Given the description of an element on the screen output the (x, y) to click on. 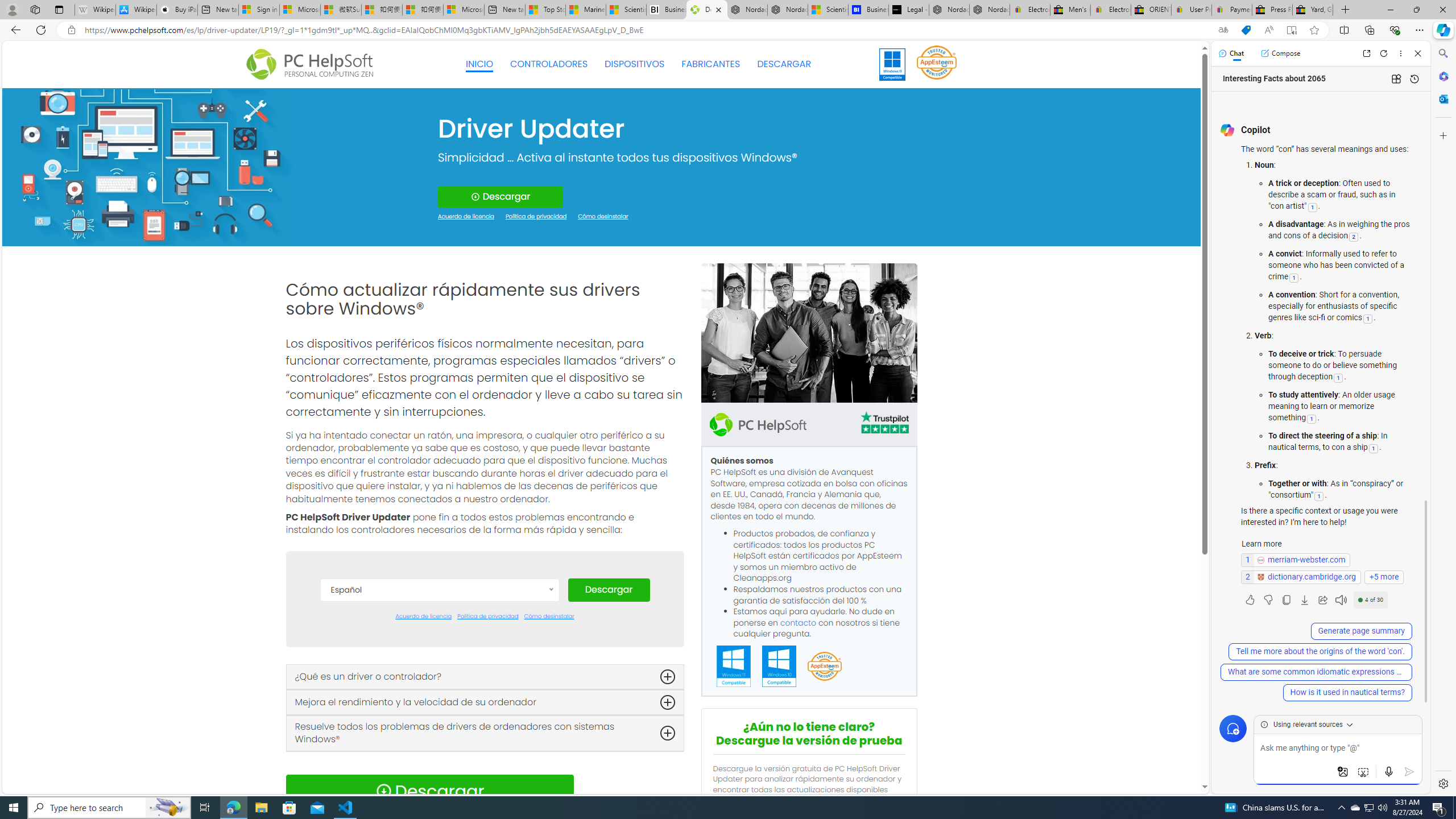
INICIO (479, 64)
DESCARGAR (783, 64)
DISPOSITIVOS (634, 64)
Chat (1231, 52)
Press Room - eBay Inc. (1272, 9)
